Given the description of an element on the screen output the (x, y) to click on. 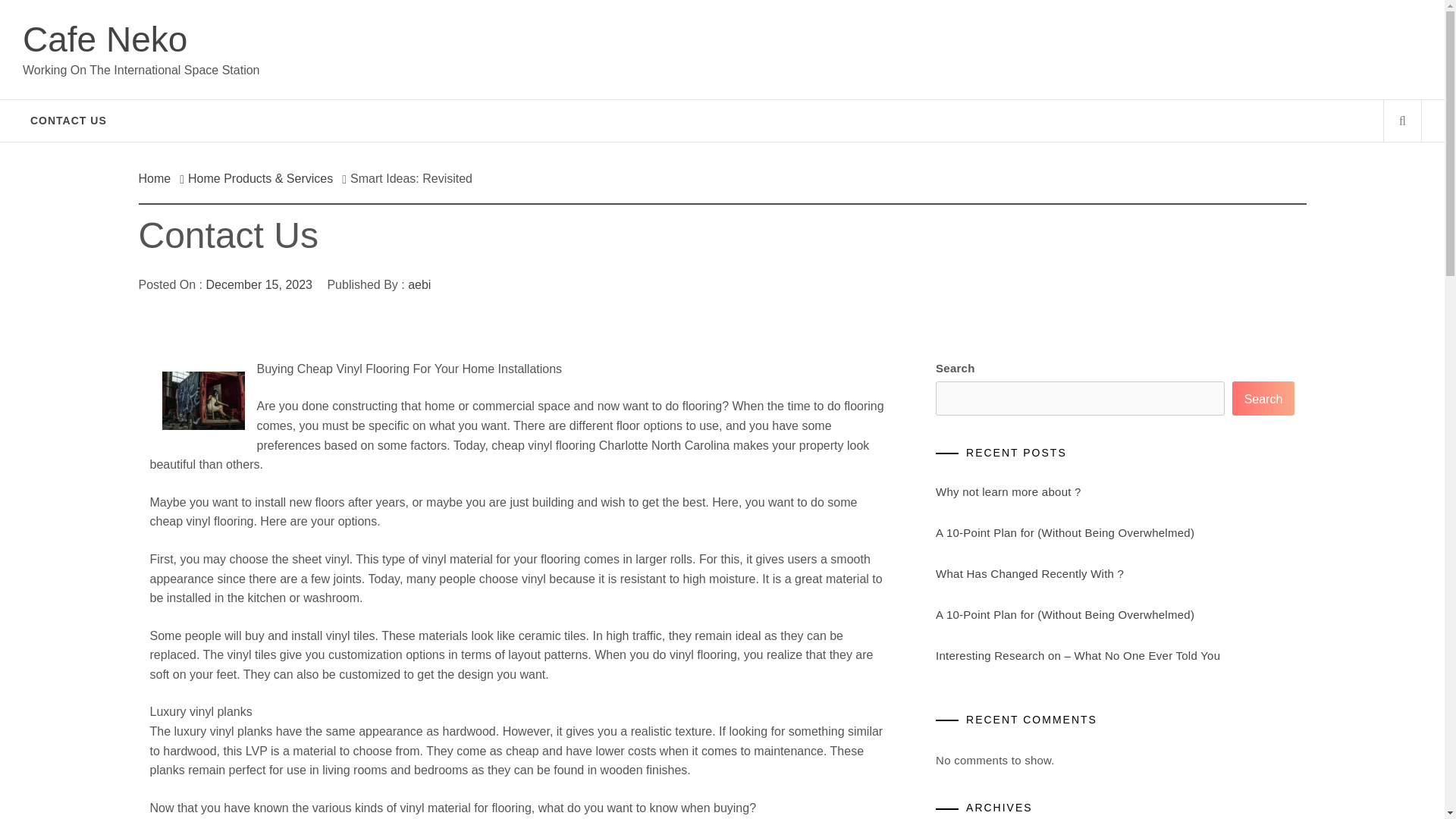
December 15, 2023 (259, 284)
Home (158, 178)
Search (1263, 398)
Search (797, 37)
aebi (418, 284)
CONTACT US (69, 120)
Why not learn more about ? (1008, 491)
Cafe Neko (105, 38)
What Has Changed Recently With ? (1030, 573)
